Given the description of an element on the screen output the (x, y) to click on. 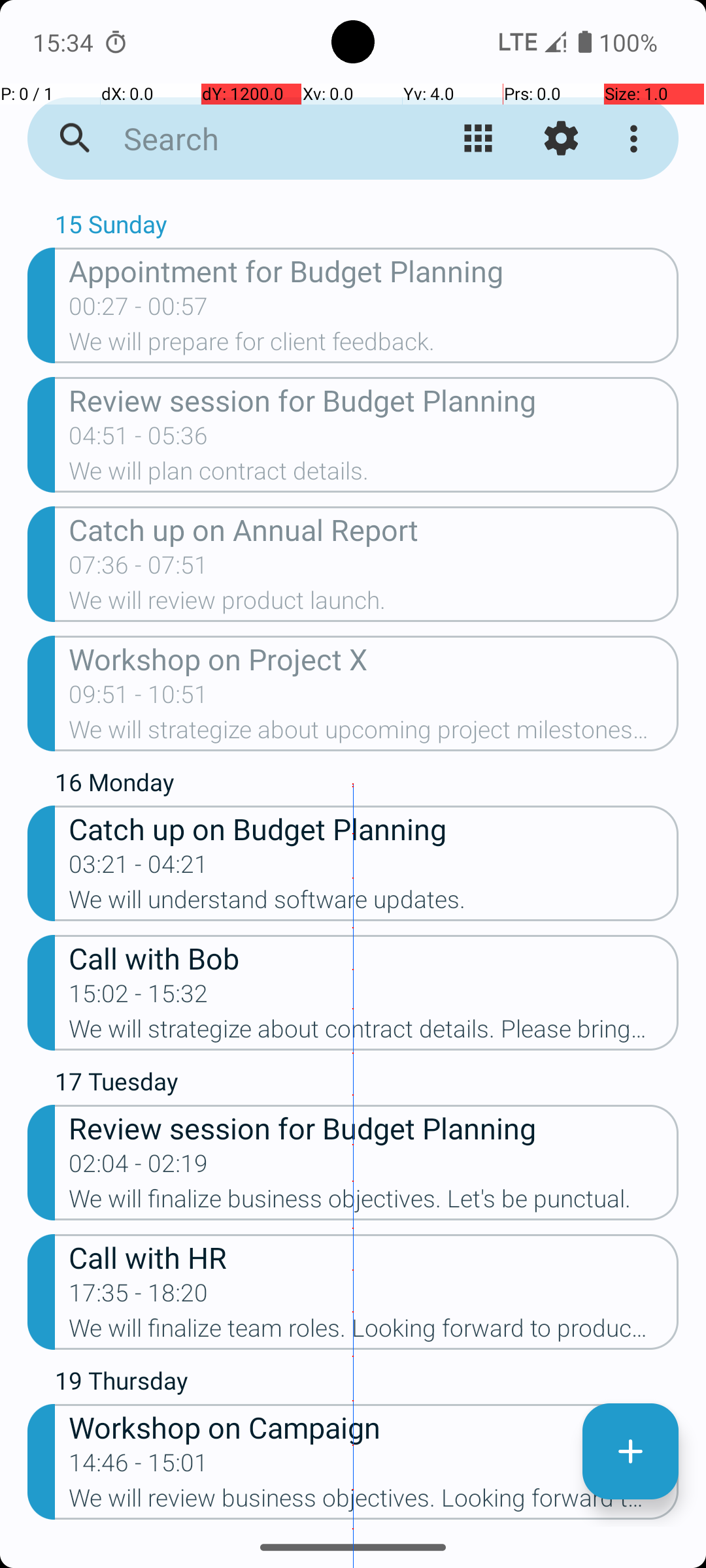
00:27 - 00:57 Element type: android.widget.TextView (137, 309)
We will prepare for client feedback. Element type: android.widget.TextView (373, 345)
04:51 - 05:36 Element type: android.widget.TextView (137, 439)
We will plan contract details. Element type: android.widget.TextView (373, 474)
07:36 - 07:51 Element type: android.widget.TextView (137, 568)
We will review product launch. Element type: android.widget.TextView (373, 603)
09:51 - 10:51 Element type: android.widget.TextView (137, 698)
We will strategize about upcoming project milestones. Let's be punctual. Element type: android.widget.TextView (373, 733)
03:21 - 04:21 Element type: android.widget.TextView (137, 867)
We will understand software updates. Element type: android.widget.TextView (373, 903)
15:02 - 15:32 Element type: android.widget.TextView (137, 997)
We will strategize about contract details. Please bring relevant documents. Element type: android.widget.TextView (373, 1032)
02:04 - 02:19 Element type: android.widget.TextView (137, 1167)
We will finalize business objectives. Let's be punctual. Element type: android.widget.TextView (373, 1202)
17:35 - 18:20 Element type: android.widget.TextView (137, 1296)
We will finalize team roles. Looking forward to productive discussions. Element type: android.widget.TextView (373, 1331)
14:46 - 15:01 Element type: android.widget.TextView (137, 1466)
We will review business objectives. Looking forward to productive discussions. Element type: android.widget.TextView (373, 1501)
